Given the description of an element on the screen output the (x, y) to click on. 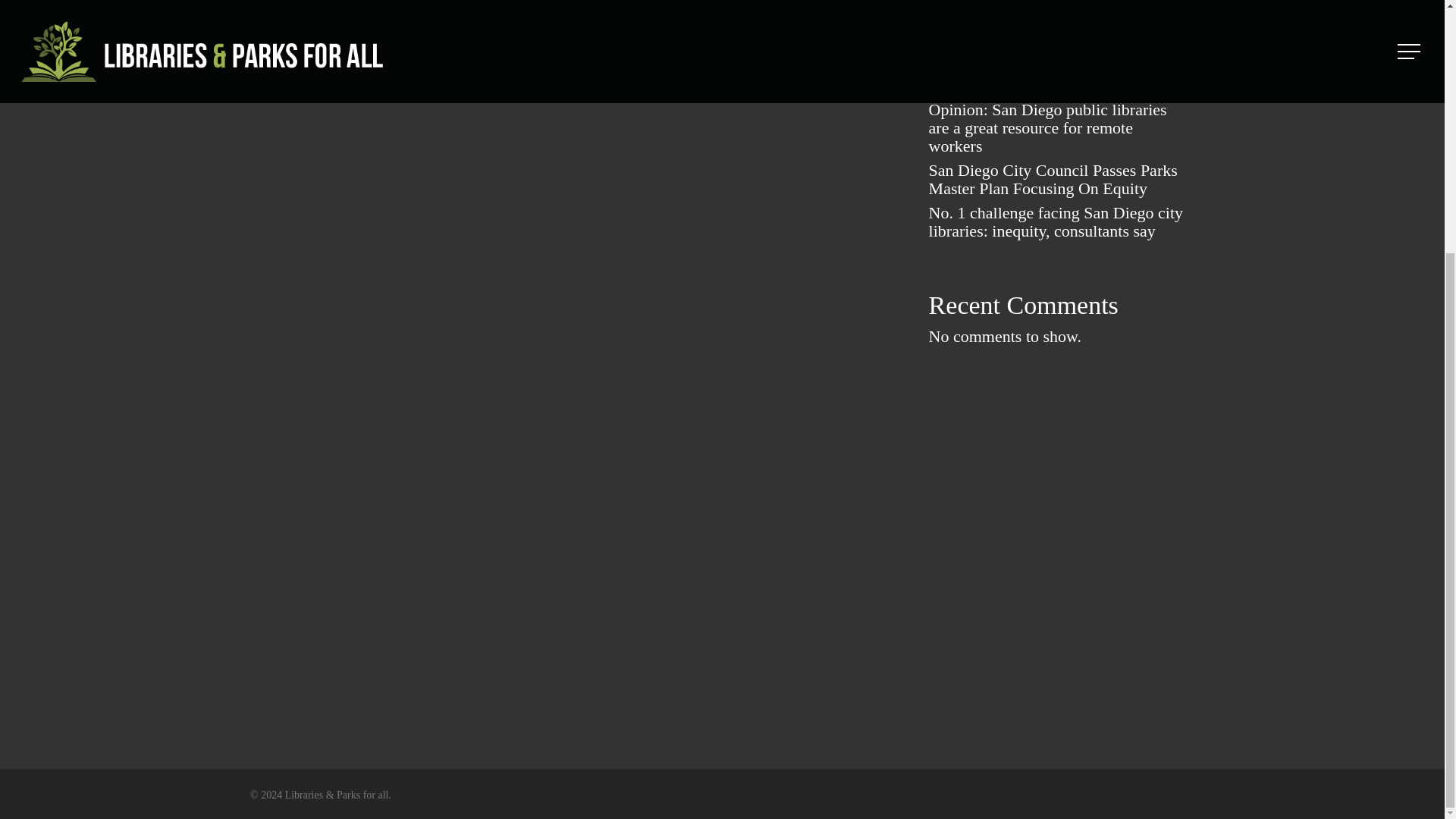
Opinion: The golden age of public libraries dawns again (1058, 76)
Signature gathering begins July 9 (1058, 43)
